Given the description of an element on the screen output the (x, y) to click on. 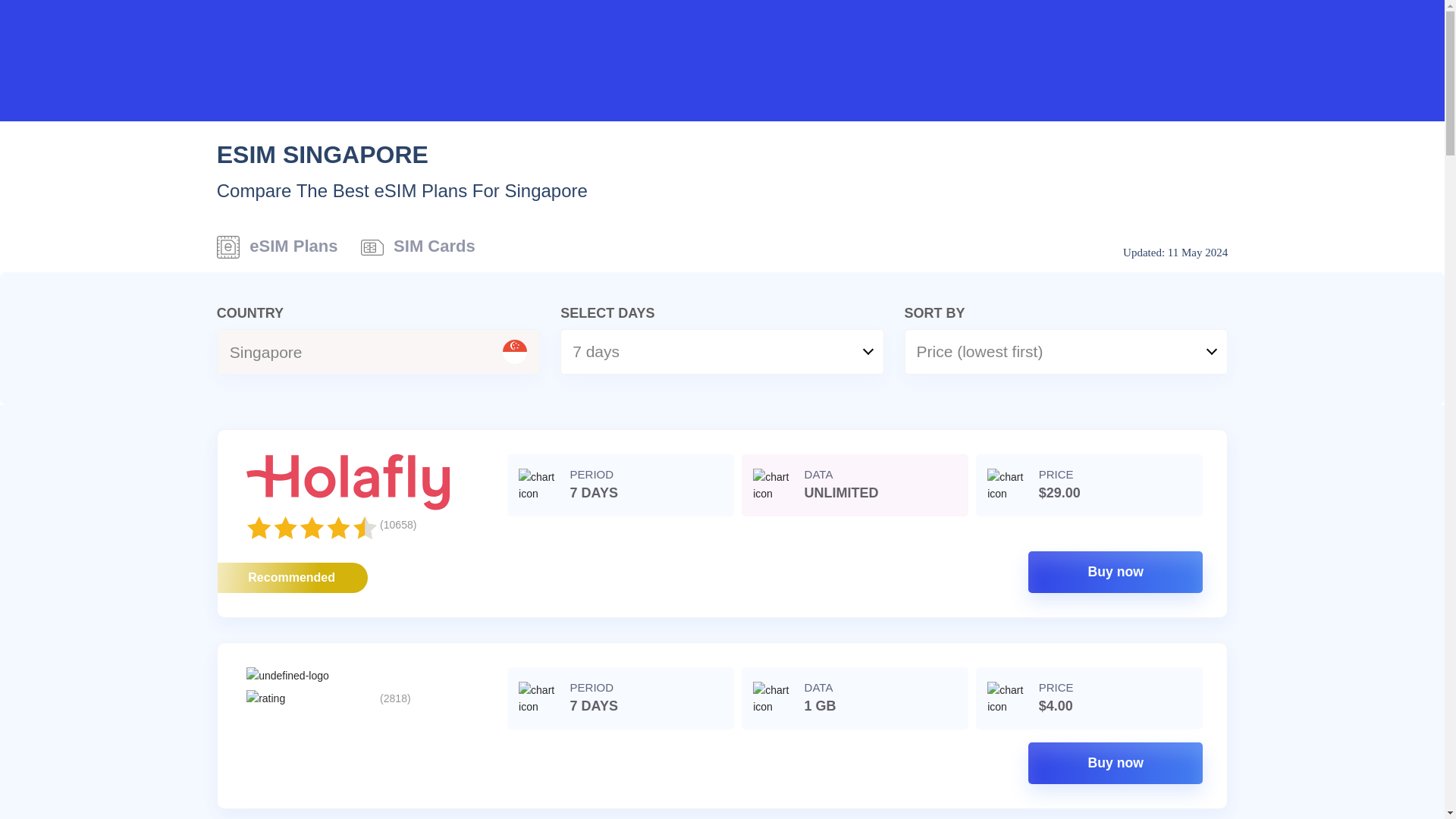
7 days (722, 351)
Buy now (1114, 762)
Buy now (1114, 571)
eSIM Plans (276, 252)
SIM Cards (418, 252)
